Given the description of an element on the screen output the (x, y) to click on. 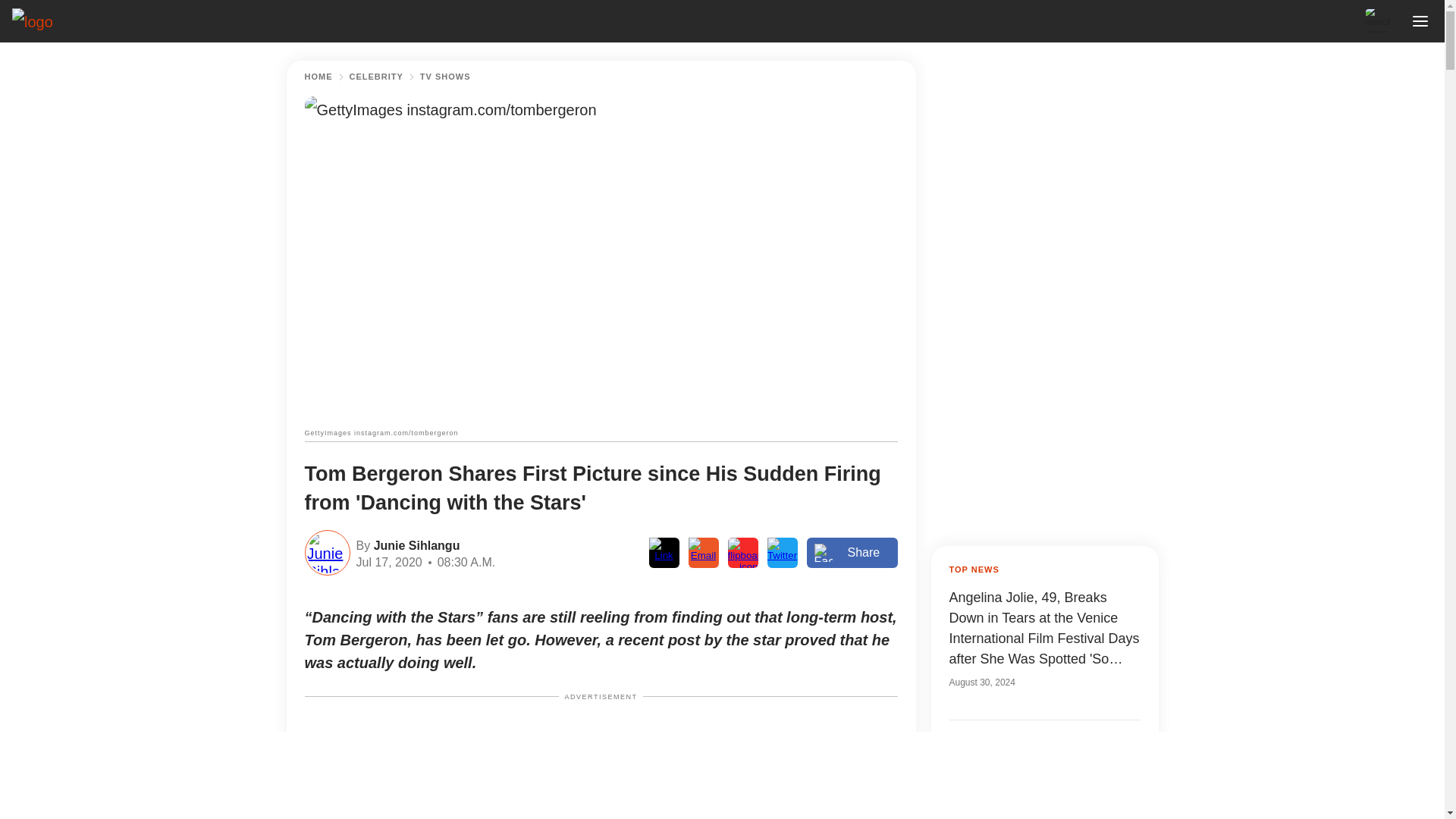
Junie Sihlangu (414, 544)
CELEBRITY (376, 76)
TV SHOWS (445, 76)
HOME (318, 76)
